Given the description of an element on the screen output the (x, y) to click on. 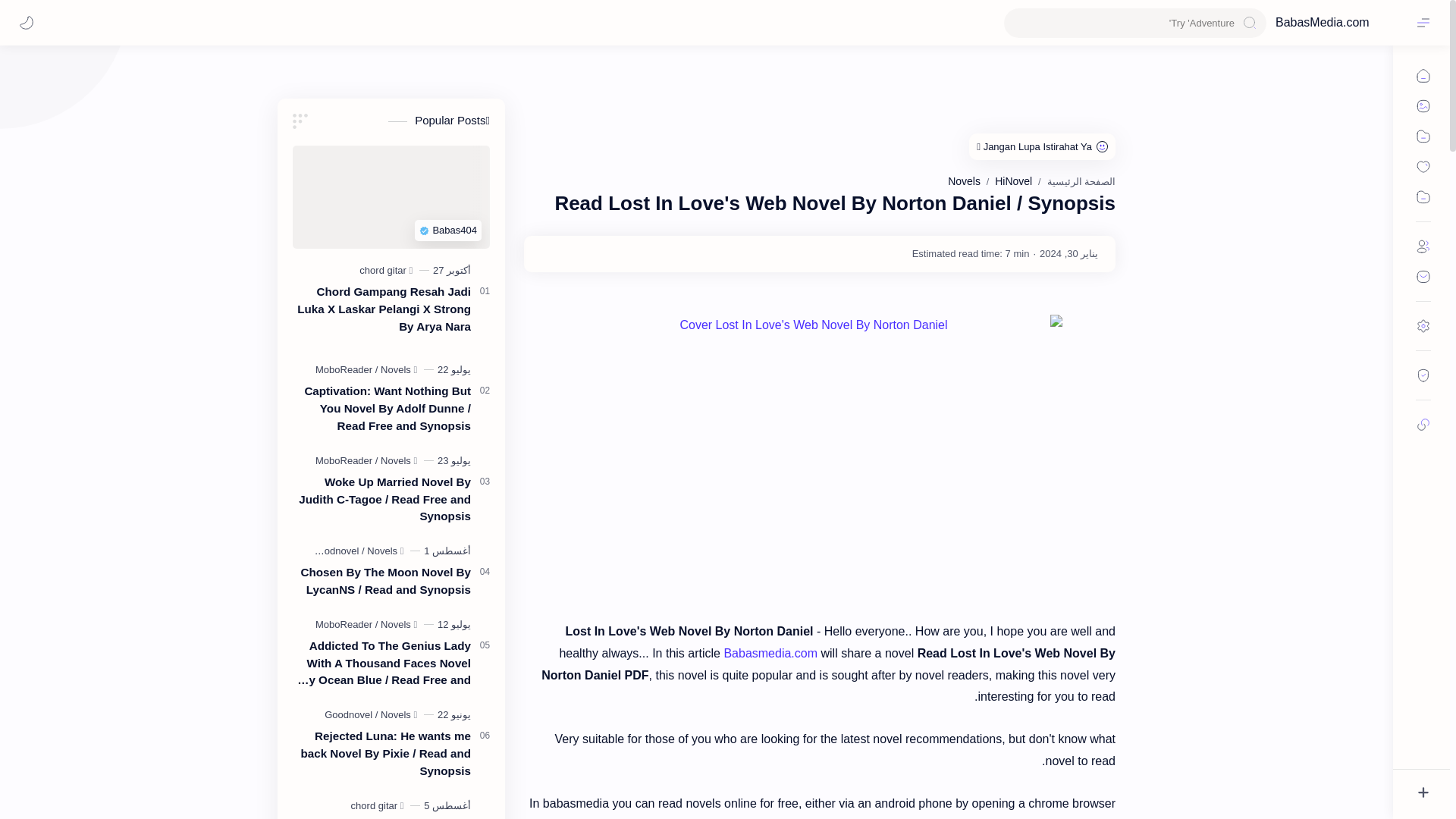
Lost In Love's Web Novel By Norton Daniel (819, 451)
BabasMedia.com (1341, 22)
Babasmedia.com (769, 653)
Novels (963, 181)
HiNovel (1013, 181)
